Given the description of an element on the screen output the (x, y) to click on. 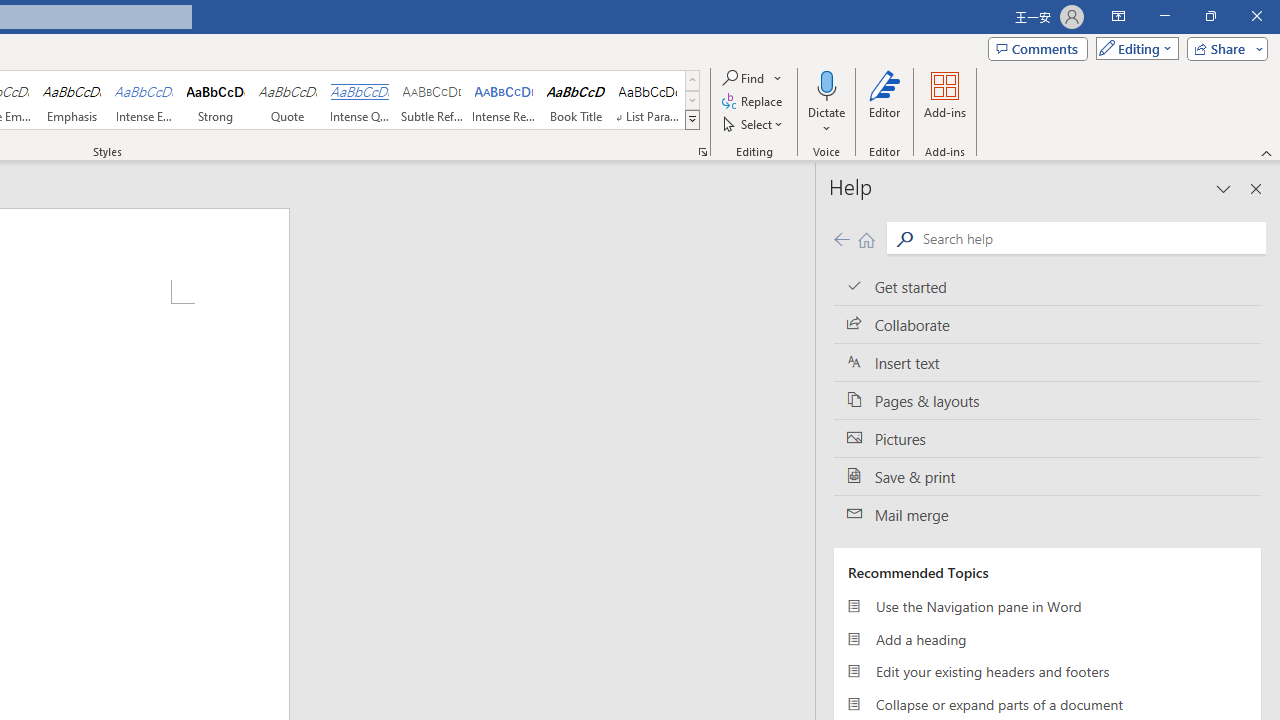
Add a heading (1047, 638)
Search (1089, 237)
Find (744, 78)
Emphasis (71, 100)
Intense Quote (359, 100)
Intense Emphasis (143, 100)
Find (753, 78)
Row up (692, 79)
Close (1256, 16)
Class: NetUIImage (692, 119)
Subtle Reference (431, 100)
Task Pane Options (1224, 188)
Get started (1047, 286)
